Given the description of an element on the screen output the (x, y) to click on. 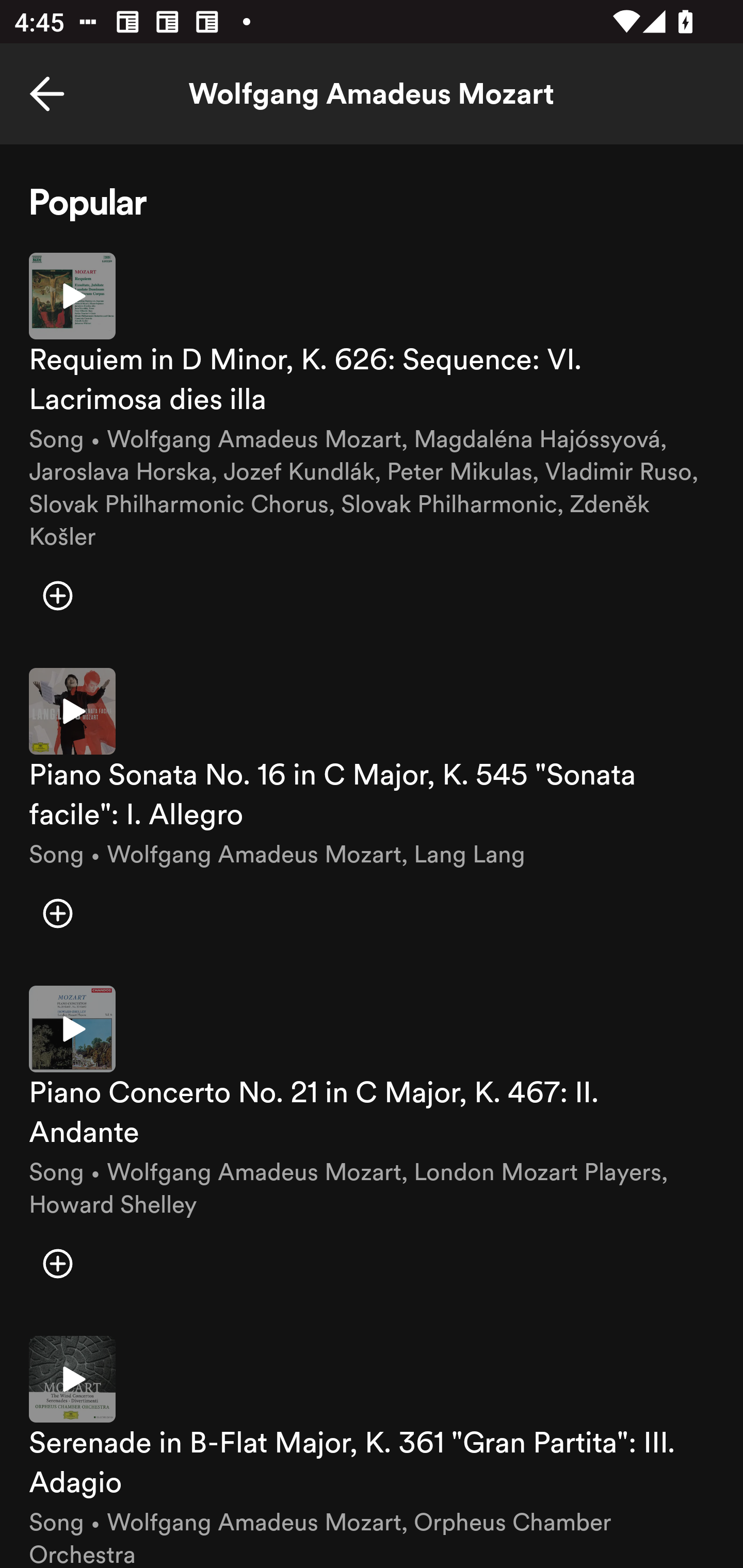
Back (46, 93)
Play preview (71, 295)
Add item (57, 595)
Play preview (71, 710)
Add item (57, 913)
Play preview (71, 1029)
Add item (57, 1263)
Play preview (71, 1378)
